Given the description of an element on the screen output the (x, y) to click on. 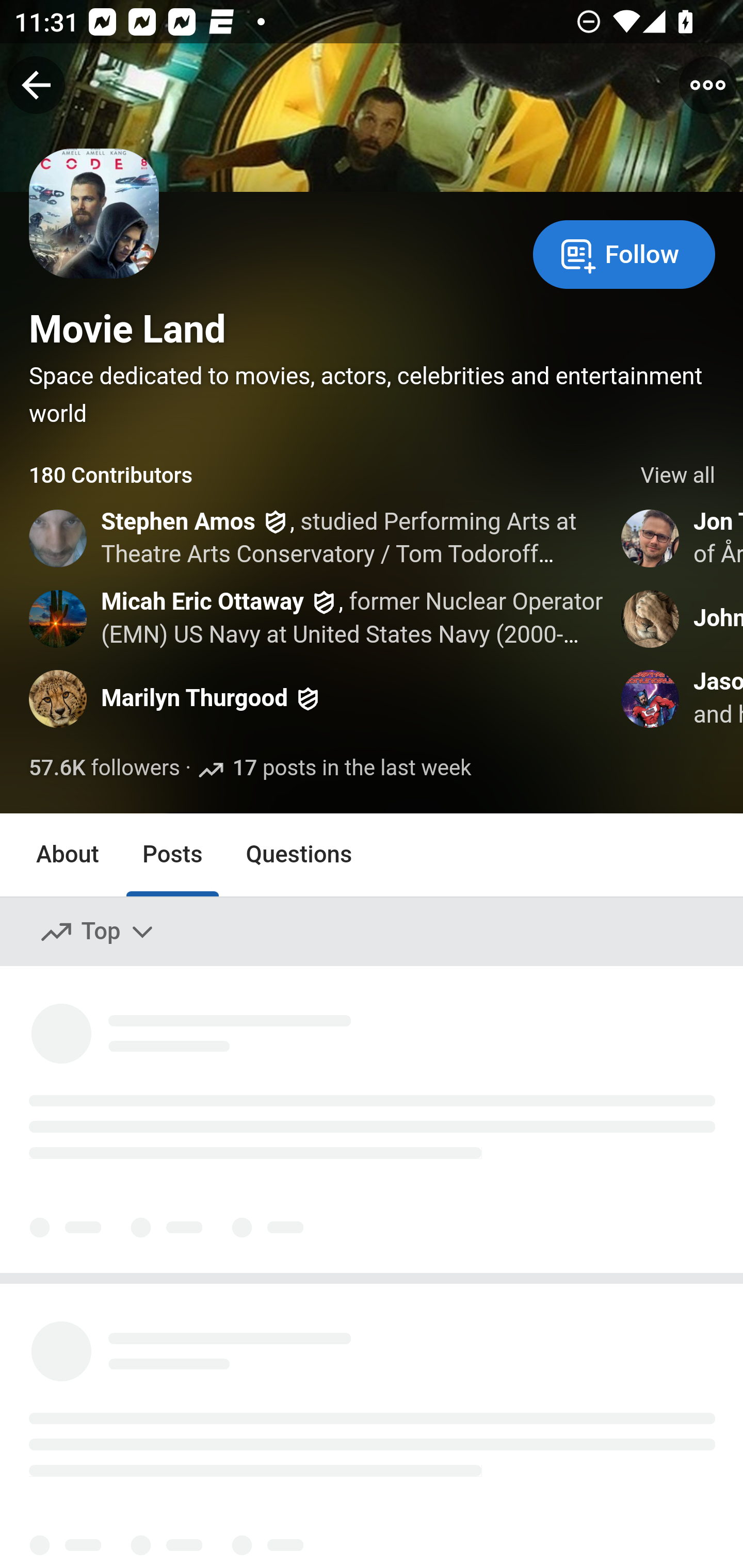
Follow (623, 252)
Movie Land (127, 329)
View all (677, 475)
Stephen Amos (178, 521)
Profile photo for Stephen Amos (58, 538)
Profile photo for Jon Therkildsen (650, 538)
Micah Eric Ottaway (202, 601)
Profile photo for Micah Eric Ottaway (58, 617)
Profile photo for John Wheeler (650, 617)
Profile photo for Marilyn Thurgood (58, 699)
Profile photo for Jason Jimenez (650, 699)
Marilyn Thurgood (195, 699)
About (68, 854)
Posts (171, 854)
Questions (299, 854)
